Given the description of an element on the screen output the (x, y) to click on. 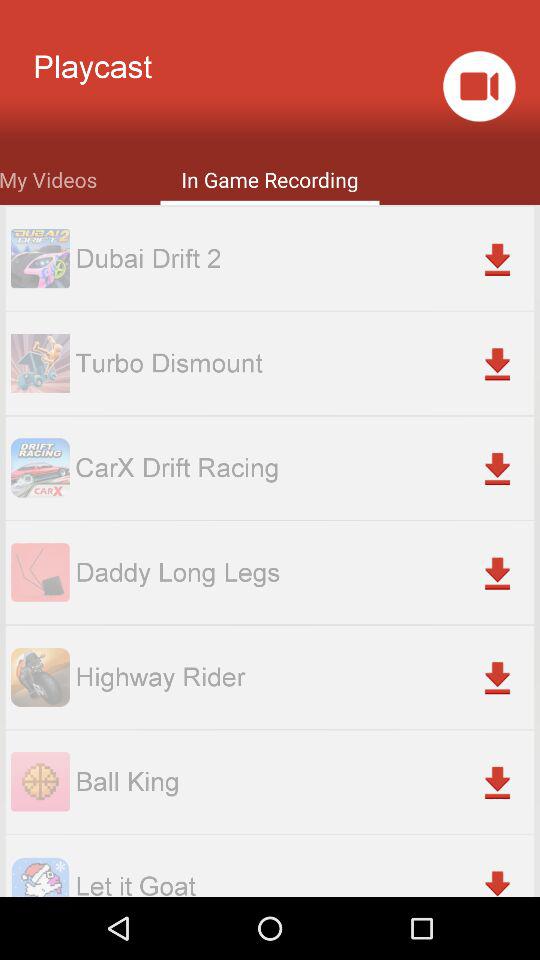
flip until the turbo dismount (304, 362)
